Given the description of an element on the screen output the (x, y) to click on. 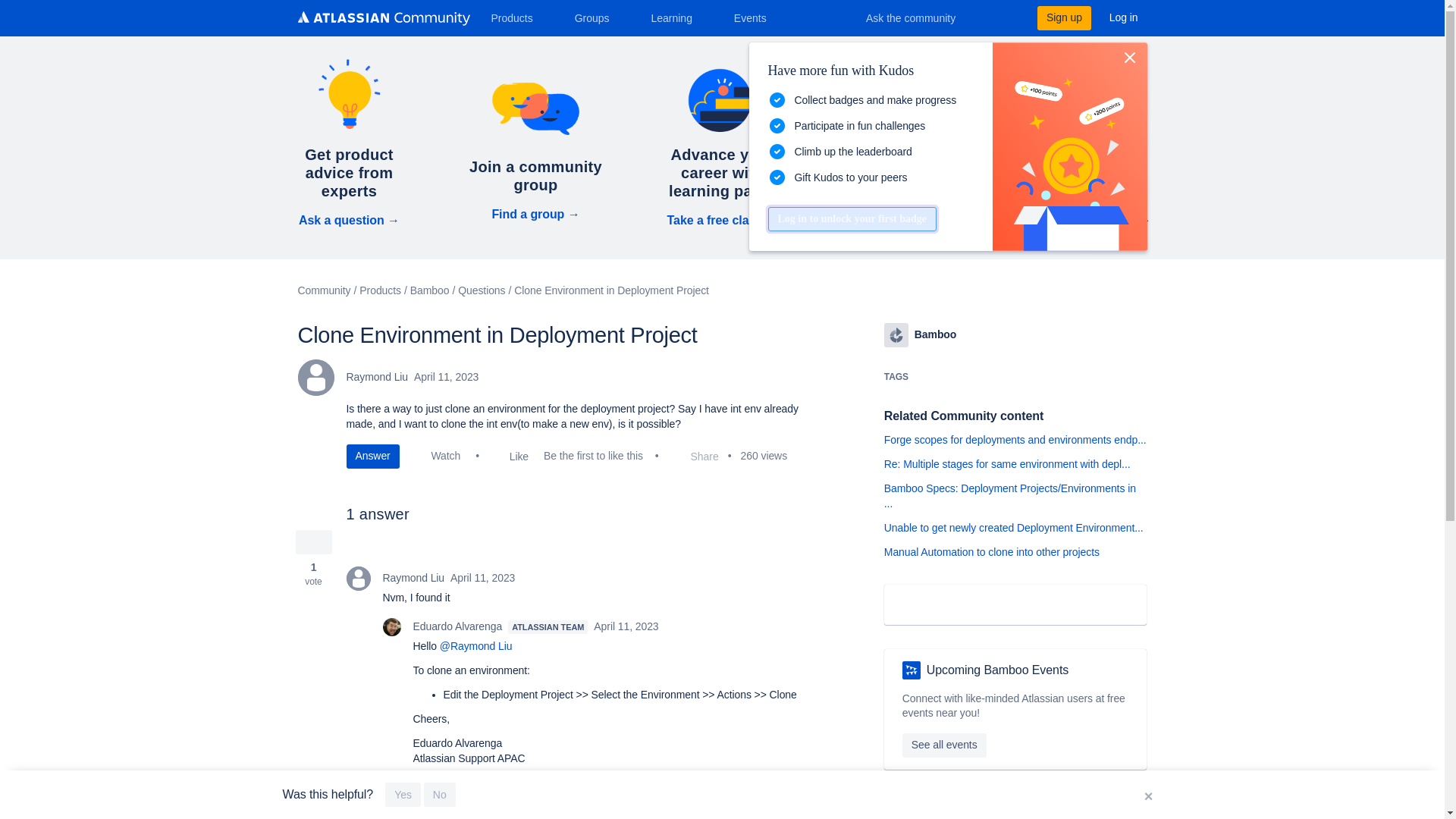
Learning (676, 17)
AUG Leaders (911, 669)
Groups (598, 17)
Sign up (1063, 17)
Log in to unlock your first badge (851, 218)
Bamboo (895, 334)
Atlassian Community logo (382, 19)
Ask the community  (921, 17)
Raymond Liu (315, 377)
Log in (1123, 17)
